Given the description of an element on the screen output the (x, y) to click on. 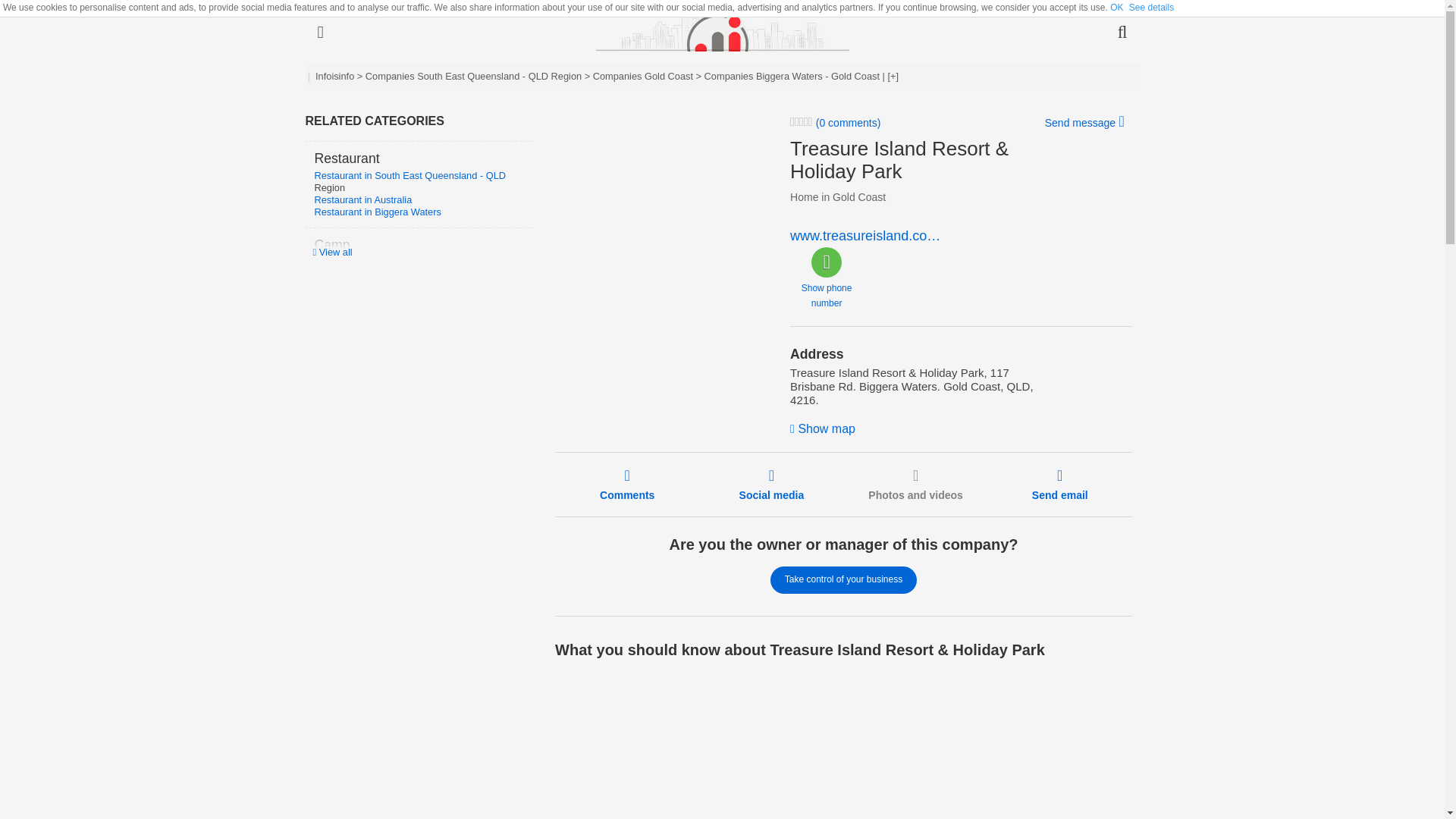
OK (1115, 8)
This business has no pictures or videos (914, 484)
Companies South East Queensland - QLD (458, 75)
Advertisement (732, 745)
Social media (772, 484)
Companies Biggera Waters - Gold Coast (791, 75)
See details (1151, 8)
Restaurant in South East Queensland - QLD (409, 174)
Infoisinfo (334, 75)
Advertisement (660, 210)
Restaurant in Australia (363, 199)
Restaurant in Biggera Waters (377, 211)
InfoisInfo Australia (721, 31)
Comments (626, 484)
Companies Gold Coast (642, 75)
